Given the description of an element on the screen output the (x, y) to click on. 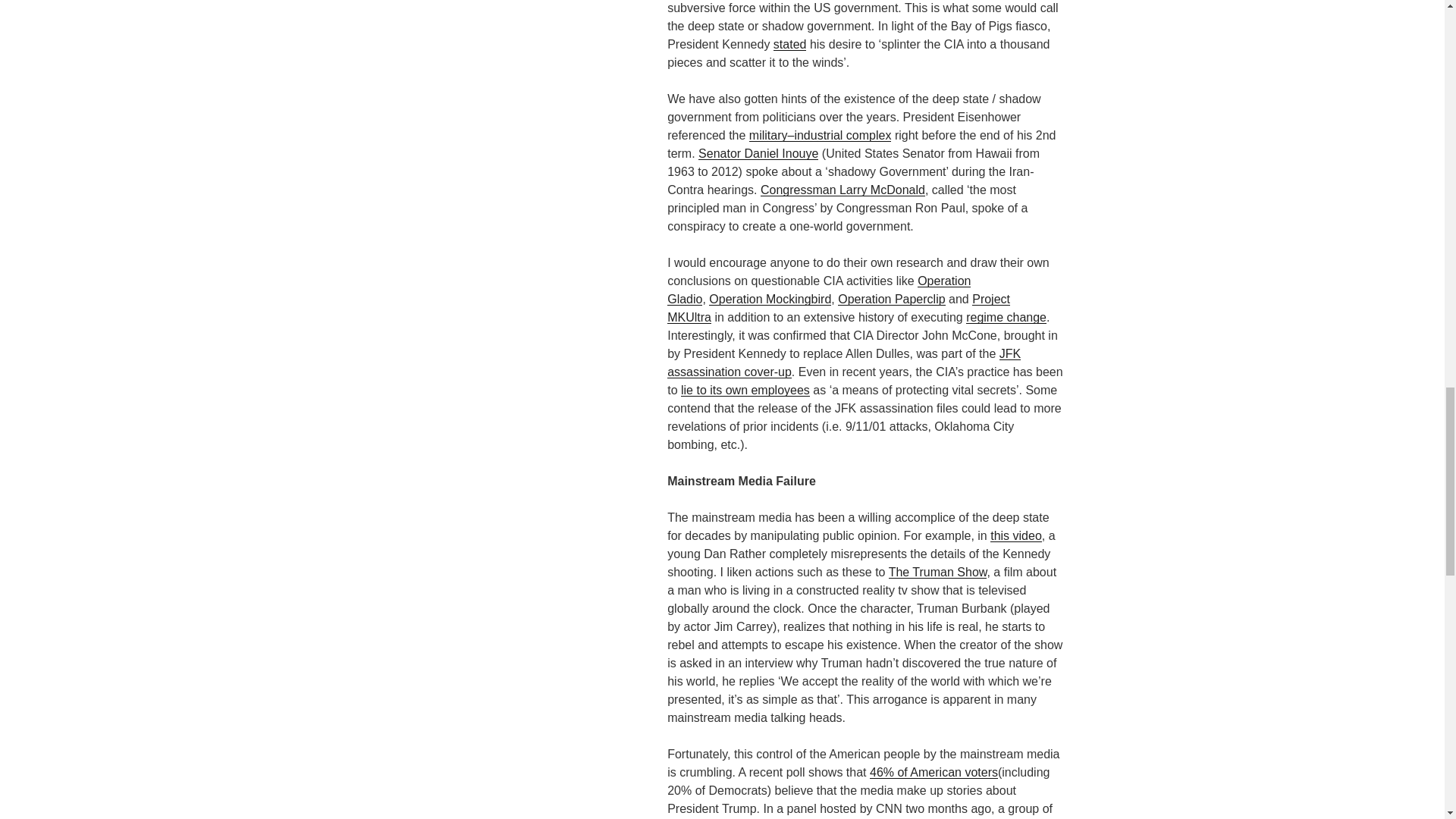
stated (789, 43)
Operation Mockingbird (770, 298)
Operation Gladio (818, 289)
Project MKUltra (838, 307)
this video (1016, 535)
Operation Paperclip (891, 298)
regime change (1006, 317)
Congressman Larry McDonald (842, 189)
Senator Daniel Inouye (758, 153)
JFK assassination cover-up (843, 362)
The Truman Show (937, 571)
lie to its own employees (745, 390)
